Given the description of an element on the screen output the (x, y) to click on. 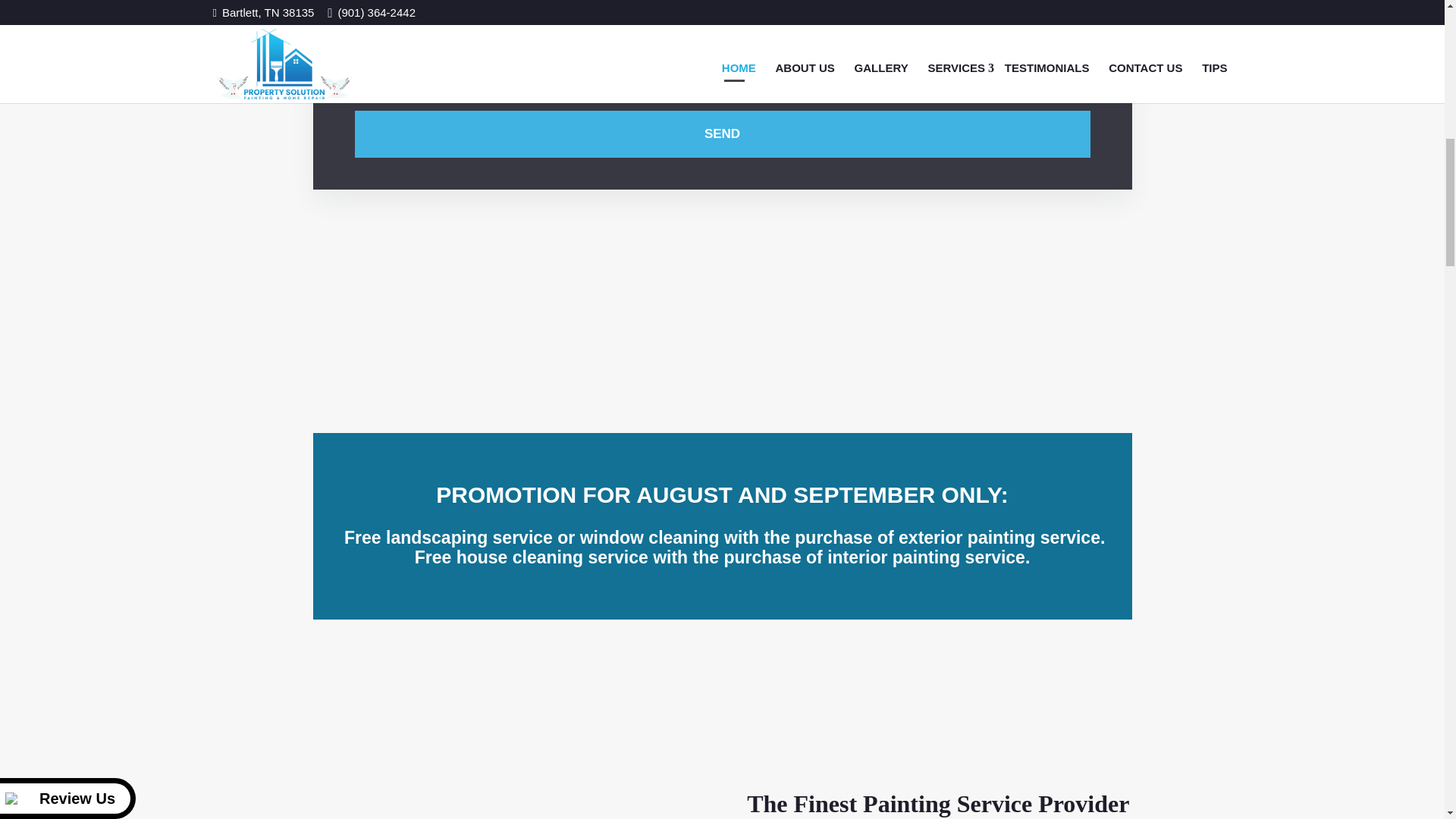
Send (722, 162)
Send (722, 162)
Code (905, 112)
Message (722, 39)
painter (506, 712)
